Given the description of an element on the screen output the (x, y) to click on. 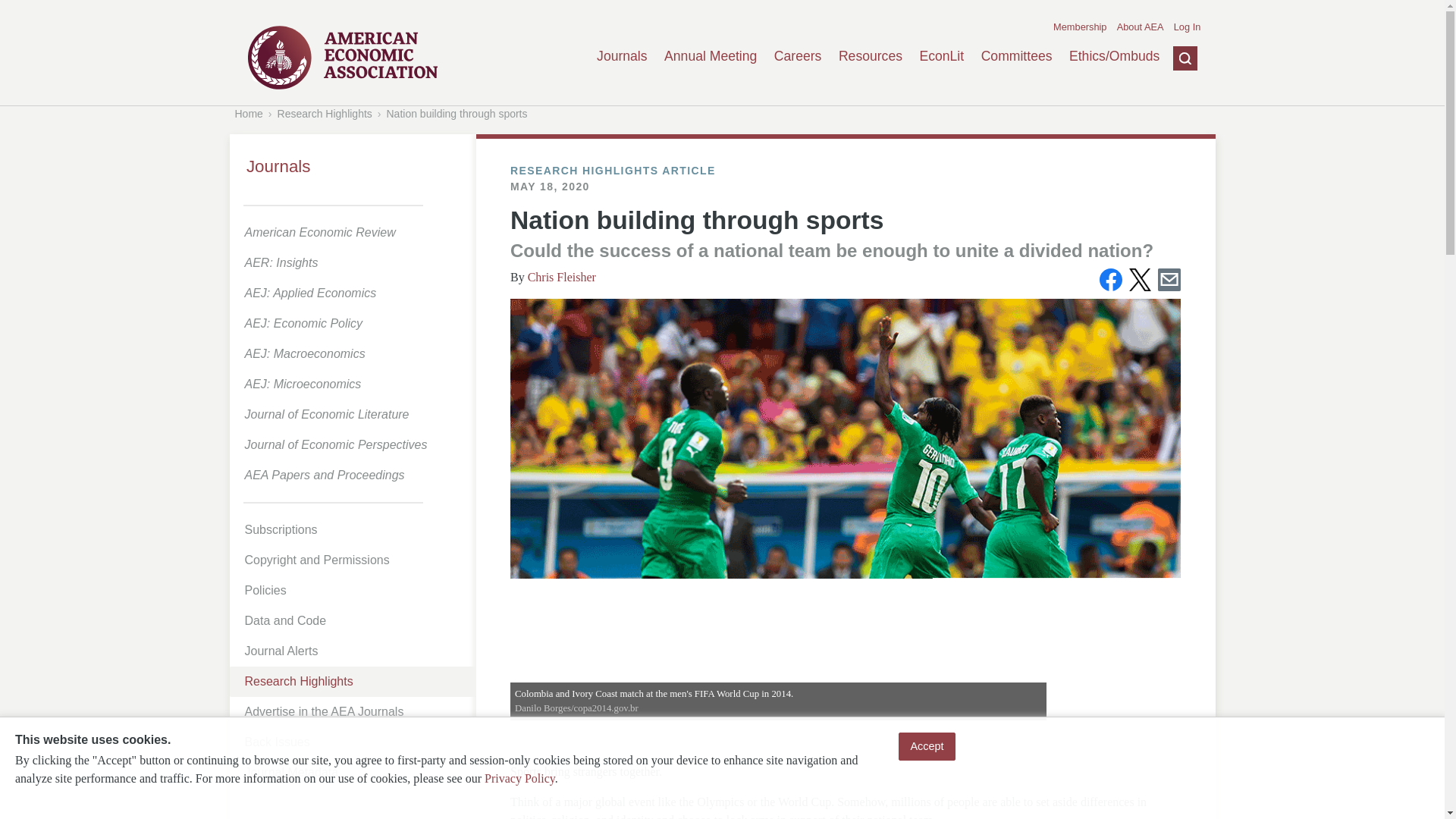
Accept (926, 746)
Search (1173, 131)
Home (248, 113)
EconLit (940, 55)
About AEA (1139, 26)
Nation building through sports (457, 113)
Log In (1187, 26)
Membership (1079, 26)
Committees (1016, 55)
Research Highlights (325, 113)
